Given the description of an element on the screen output the (x, y) to click on. 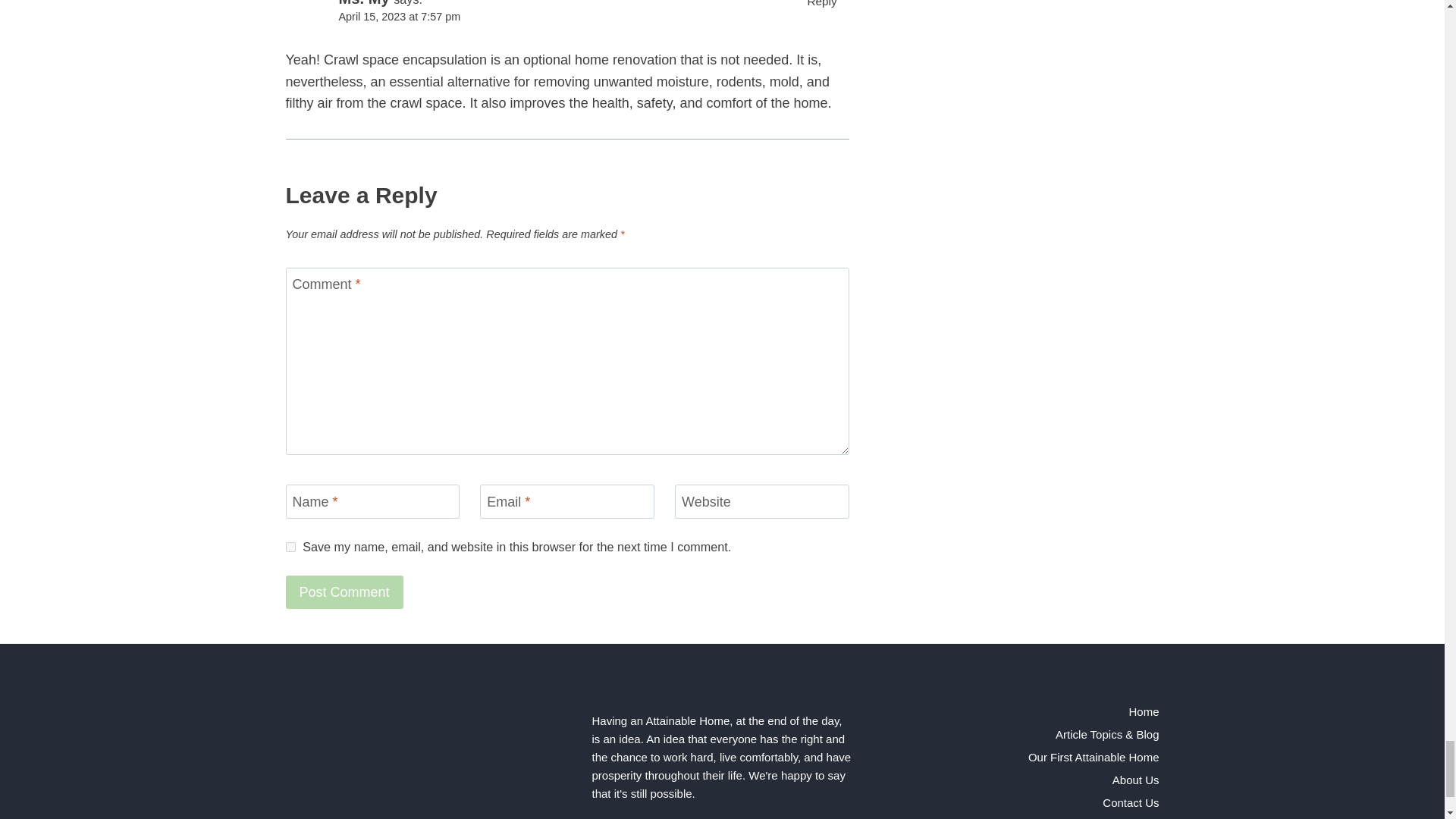
Post Comment (344, 591)
yes (290, 547)
